Given the description of an element on the screen output the (x, y) to click on. 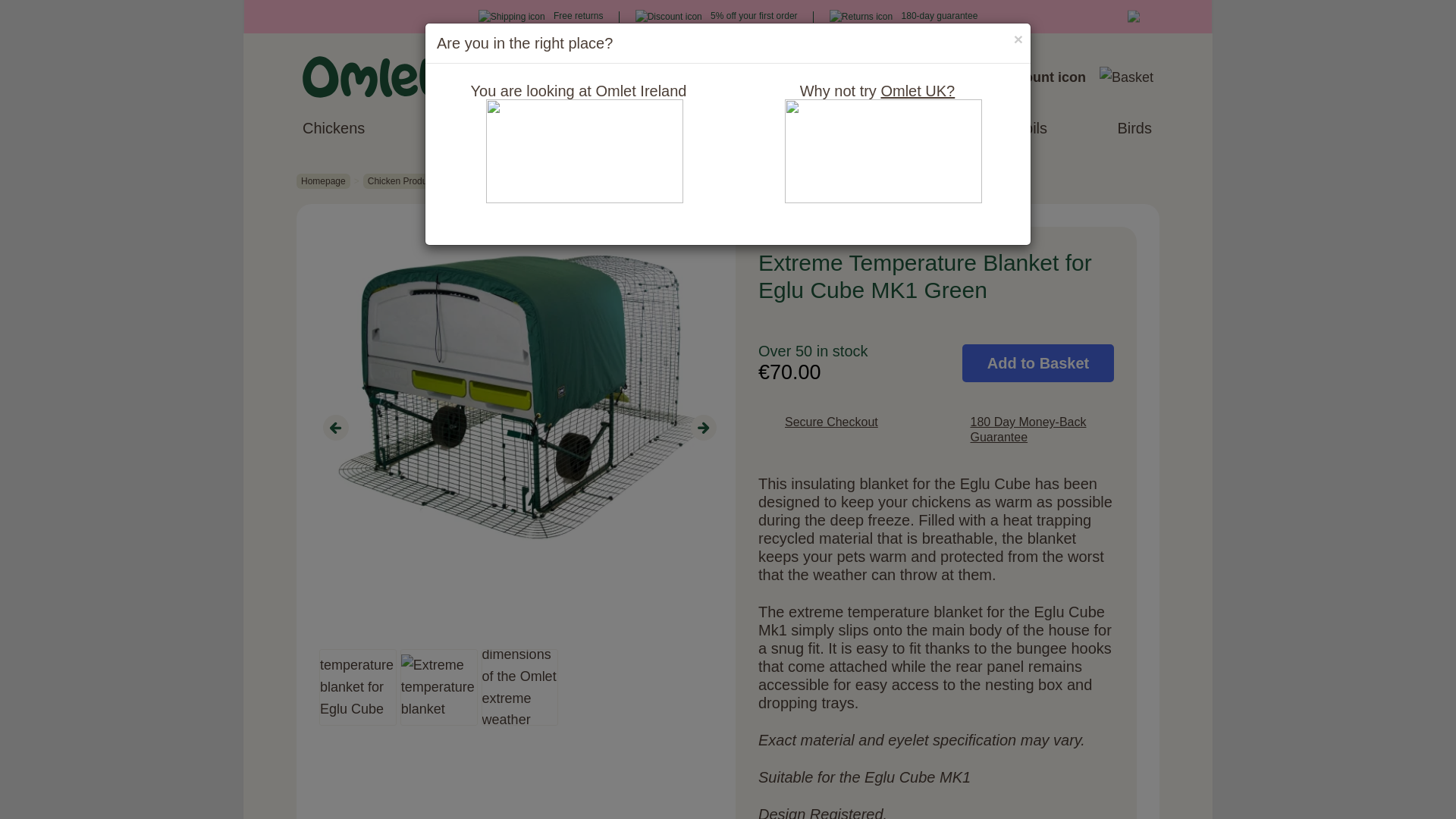
Shipping (511, 16)
Free returns (541, 15)
Account (1036, 77)
Contact us (920, 77)
Basket (1126, 77)
Discount icon (667, 16)
Returns icon (860, 16)
Chickens (333, 127)
180-day guarantee (902, 15)
Omlet (370, 76)
